Given the description of an element on the screen output the (x, y) to click on. 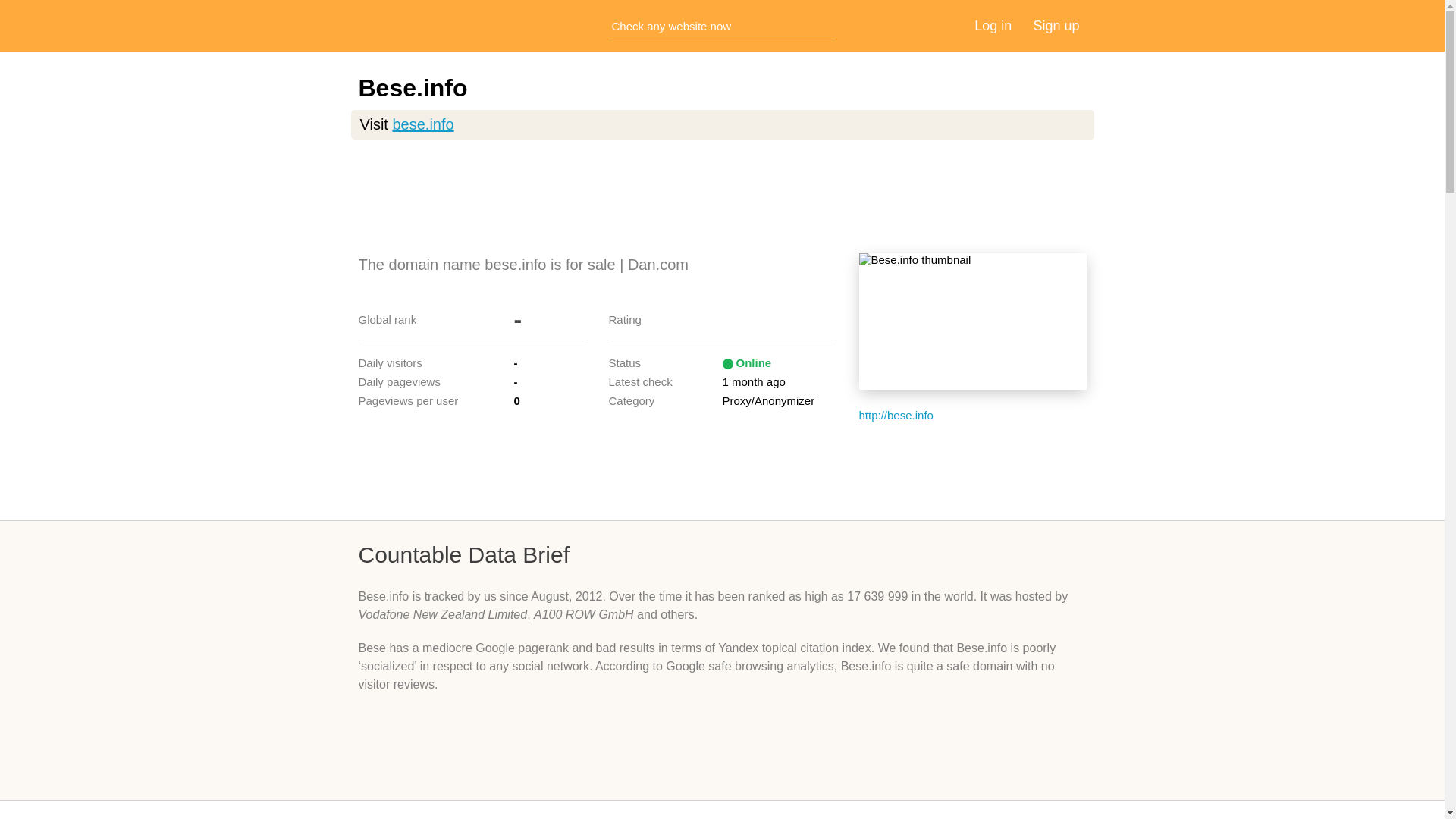
bese.info (421, 124)
Bese.info thumbnail (972, 321)
Sign up (1056, 25)
Log in (992, 25)
